Given the description of an element on the screen output the (x, y) to click on. 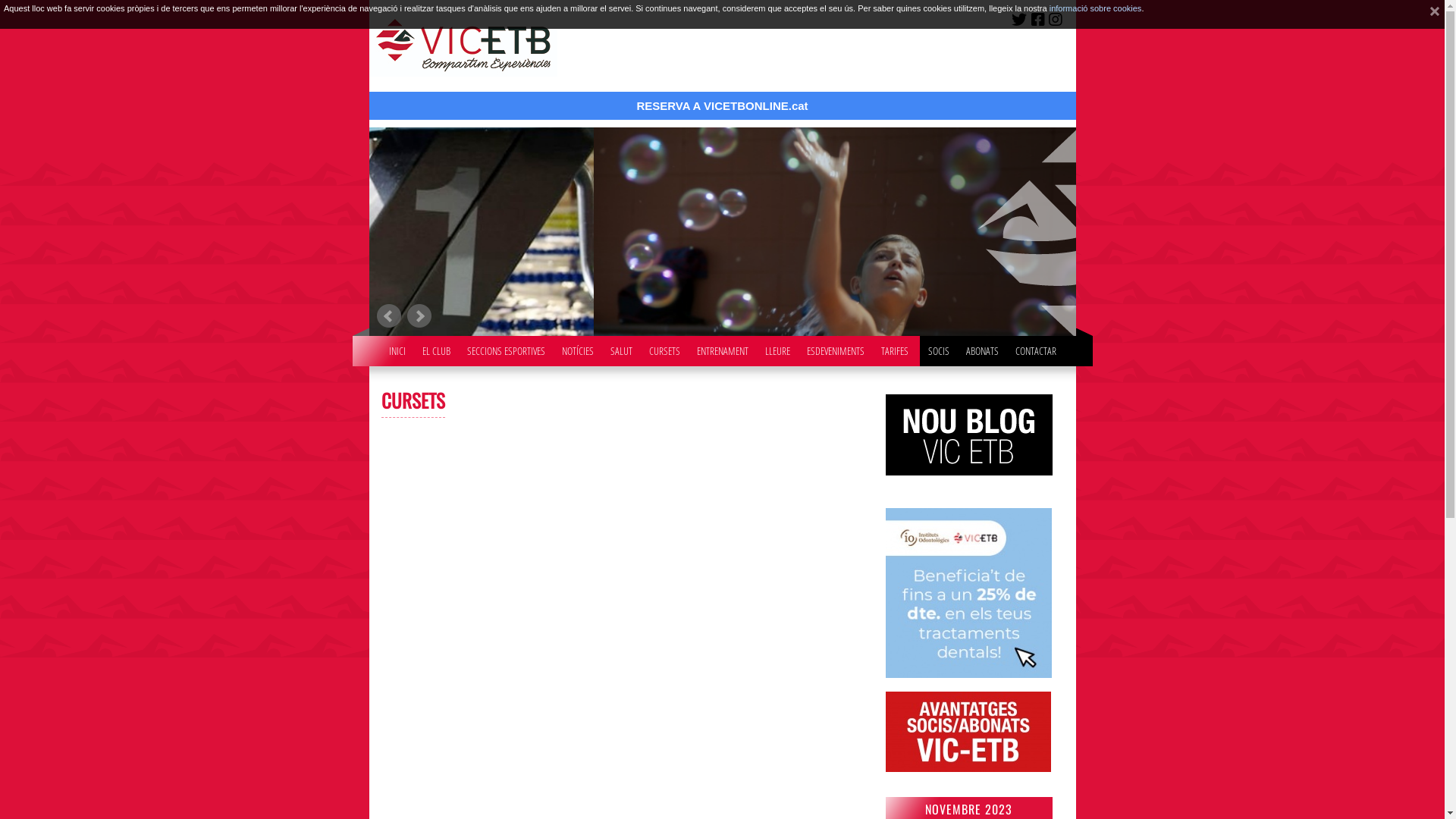
ENTRENAMENT Element type: text (721, 347)
SECCIONS ESPORTIVES Element type: text (505, 347)
SALUT Element type: text (620, 347)
LLEURE Element type: text (776, 347)
SOCIS Element type: text (938, 347)
EL CLUB Element type: text (435, 347)
  Element type: text (1428, 14)
CURSETS Element type: text (664, 347)
TARIFES Element type: text (894, 347)
Prev Element type: text (388, 316)
RESERVA A VICETBONLINE.cat Element type: text (721, 59)
tancar missatge Element type: hover (1428, 14)
CONTACTAR Element type: text (1035, 347)
INICI Element type: text (396, 347)
ABONATS Element type: text (982, 347)
ESDEVENIMENTS Element type: text (835, 347)
AVANTATGES SOCIS/ABOANTS Element type: hover (968, 767)
Next Element type: text (418, 316)
